Given the description of an element on the screen output the (x, y) to click on. 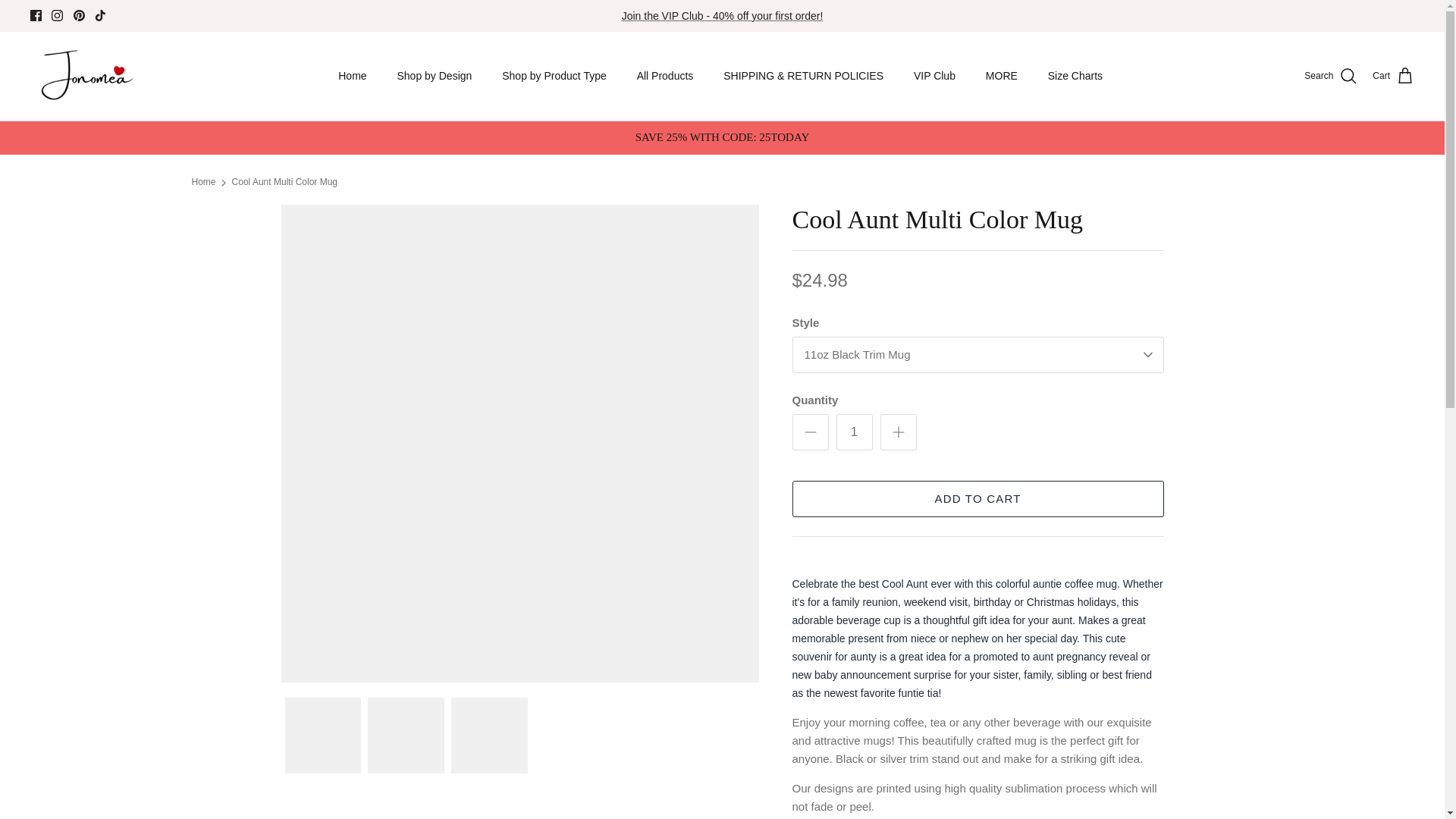
1 (853, 432)
Instagram (56, 15)
Search (1330, 76)
Plus (897, 432)
MORE (1001, 75)
Instagram (56, 15)
Shop by Product Type (553, 75)
Cart (1393, 76)
All Products (665, 75)
VIP Club (934, 75)
